Given the description of an element on the screen output the (x, y) to click on. 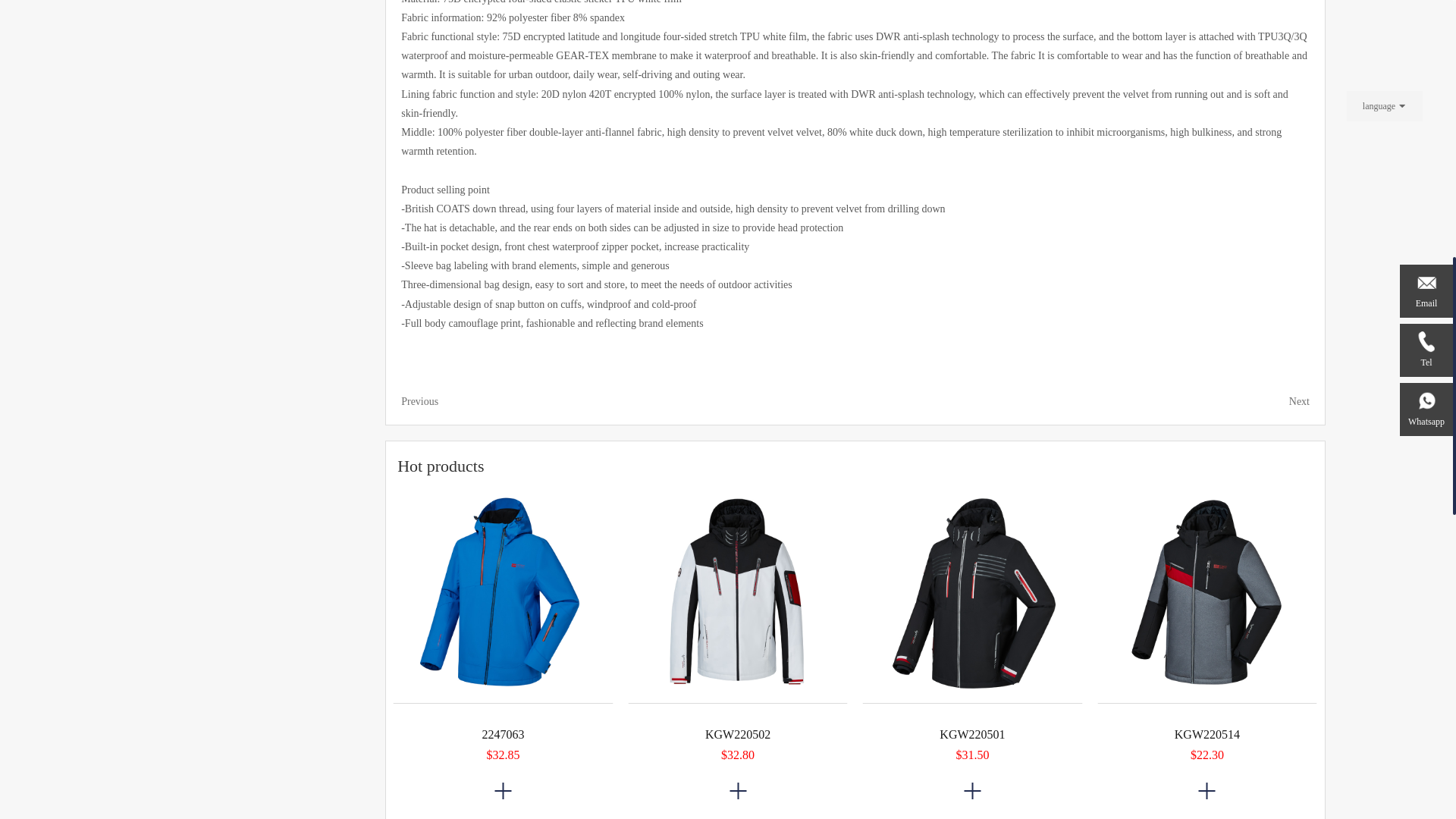
Previous (423, 400)
 KGW220502 (737, 593)
 2247063 (502, 593)
2247063 (502, 722)
